Given the description of an element on the screen output the (x, y) to click on. 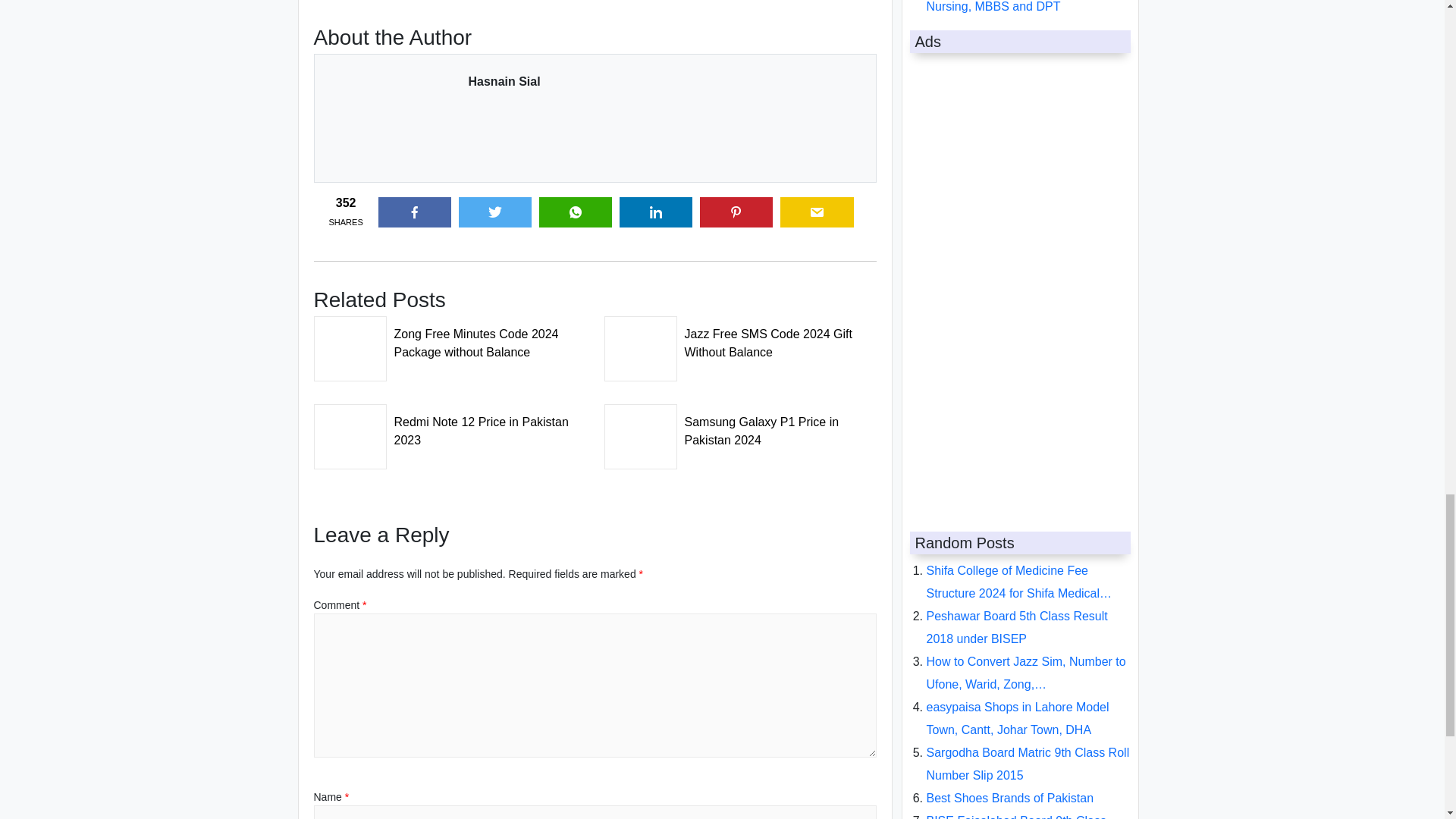
Advertisement (595, 7)
Samsung Galaxy P1 Price in Pakistan 2024 (740, 426)
Jazz Free SMS Code 2024 Gift Without Balance (740, 338)
Redmi Note 12 Price in Pakistan 2023 (450, 426)
Zong Free Minutes Code 2024 Package without Balance (450, 338)
